Given the description of an element on the screen output the (x, y) to click on. 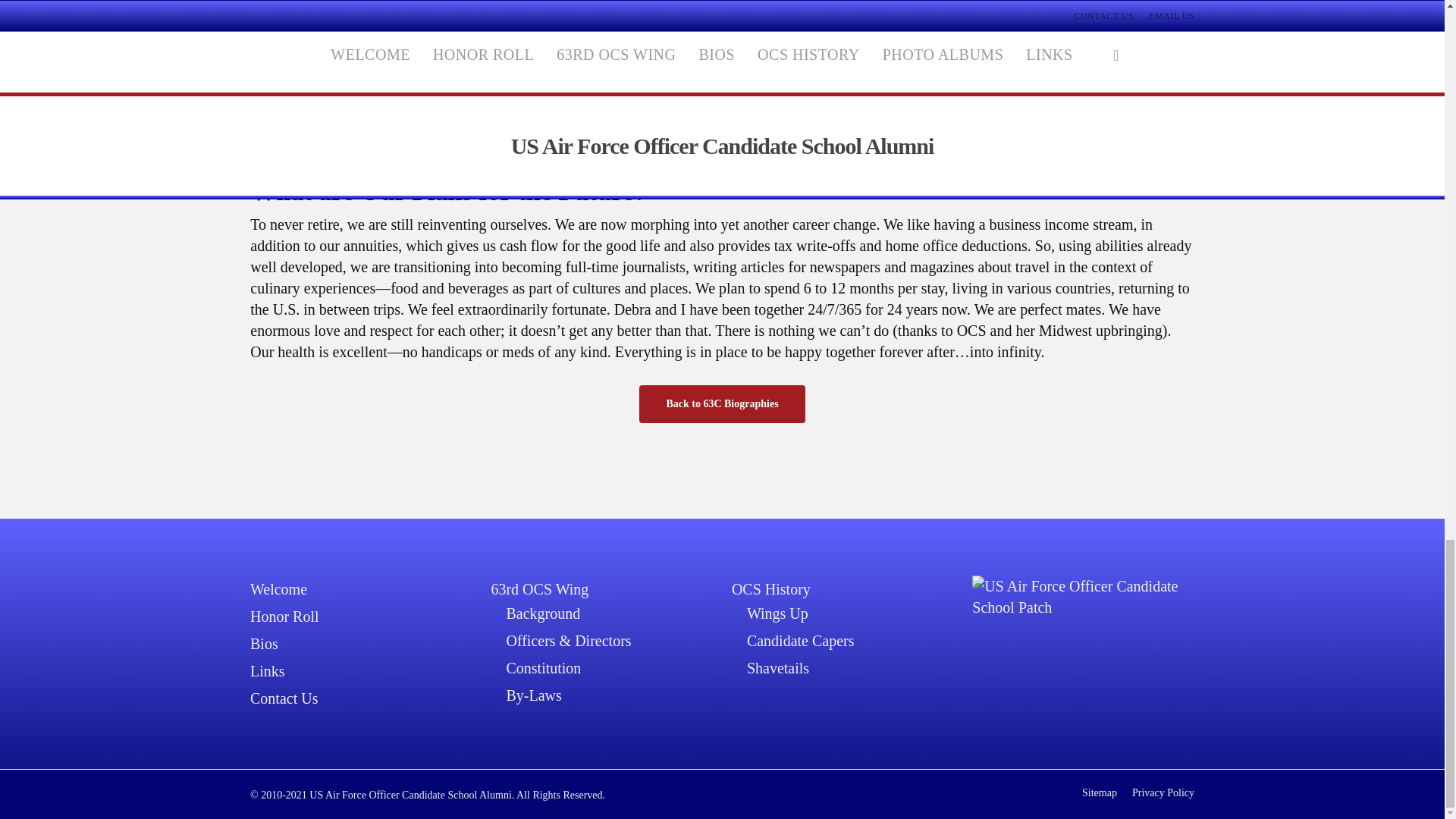
63rd OCS Wing (601, 588)
Back to 63C Biographies (722, 403)
Bios (360, 643)
Candidate Capers (849, 640)
Honor Roll (360, 616)
Constitution (609, 667)
OCS History (842, 588)
Background (609, 613)
Welcome (360, 588)
Links (360, 670)
